Given the description of an element on the screen output the (x, y) to click on. 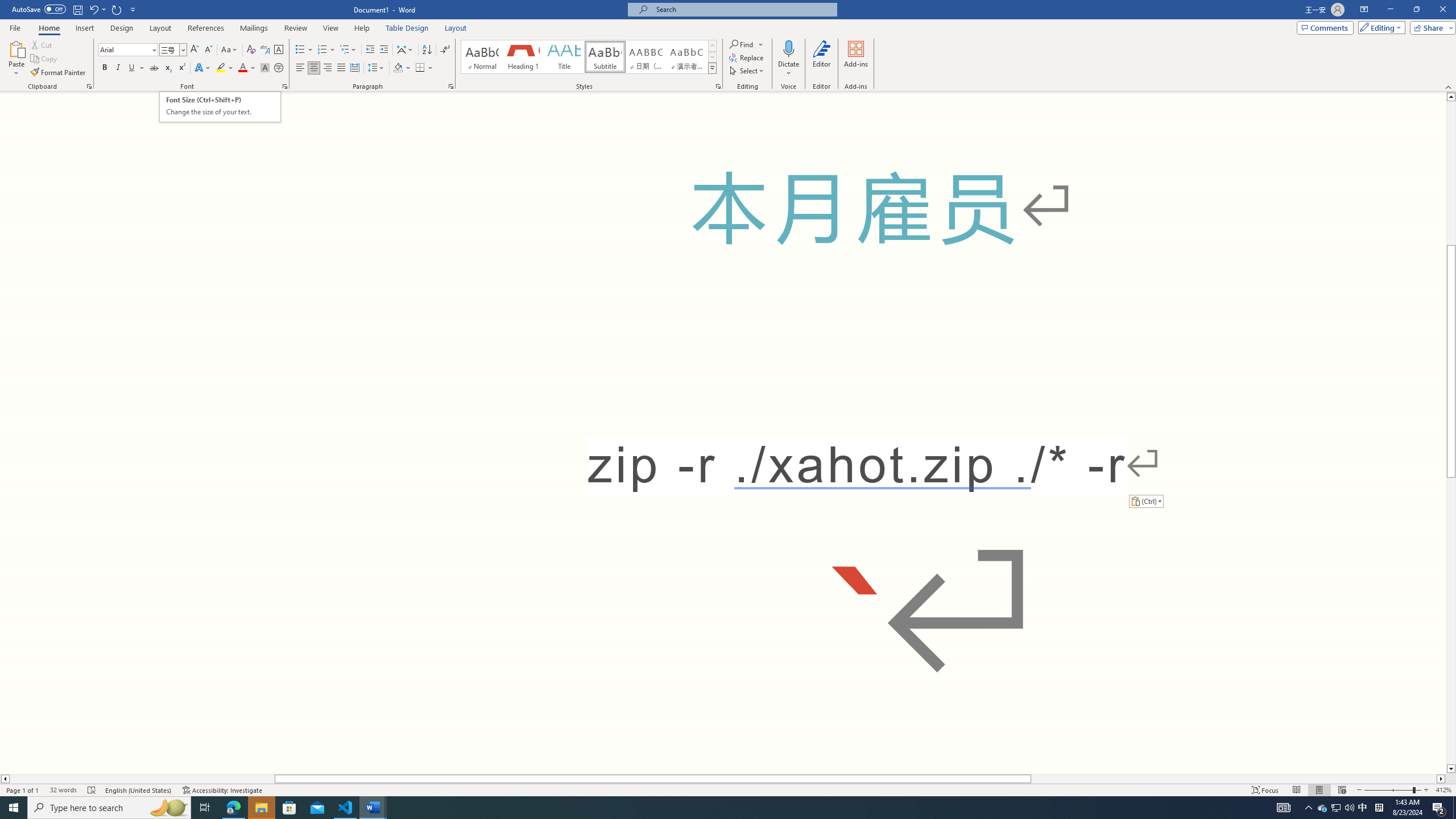
Font Color Red (241, 67)
Page Number Page 1 of 1 (22, 790)
